Given the description of an element on the screen output the (x, y) to click on. 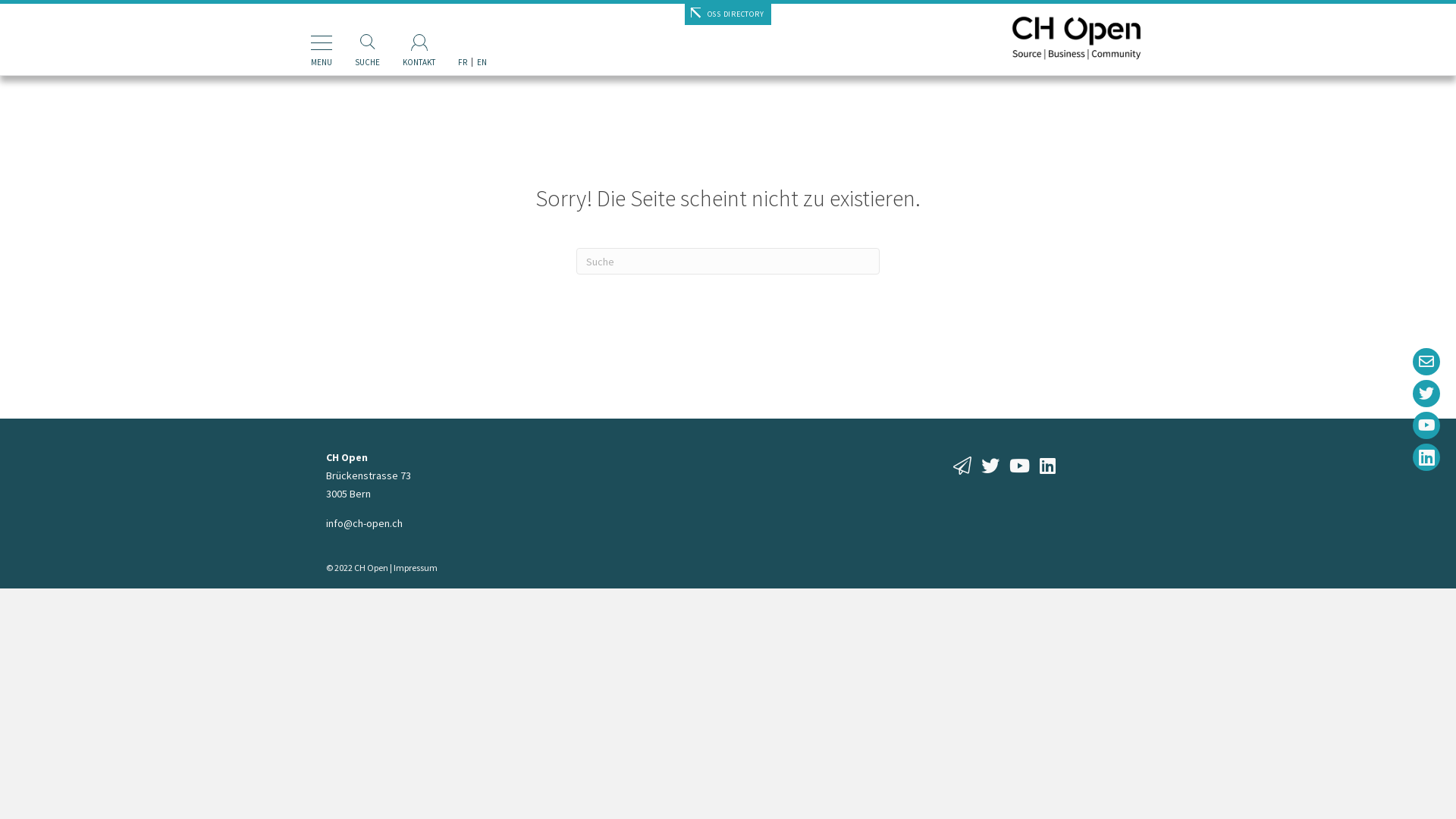
EN Element type: text (481, 36)
info@ch-open.ch Element type: text (364, 523)
LinkedIn Element type: hover (1426, 456)
Youtube Element type: hover (1426, 425)
Youtube Element type: hover (1426, 425)
Impressum Element type: text (415, 567)
OSS DIRECTORY Element type: text (727, 14)
FR Element type: text (462, 36)
Twitter Element type: hover (1426, 393)
Suchbegriff hier eingeben ... Element type: hover (727, 260)
LinkedIn Element type: hover (1426, 457)
Mail Element type: hover (1426, 361)
KONTAKT Element type: text (418, 36)
Twitter Element type: hover (1426, 393)
MENU Element type: text (321, 36)
SUCHE Element type: text (366, 36)
Mail Element type: hover (1426, 361)
